Given the description of an element on the screen output the (x, y) to click on. 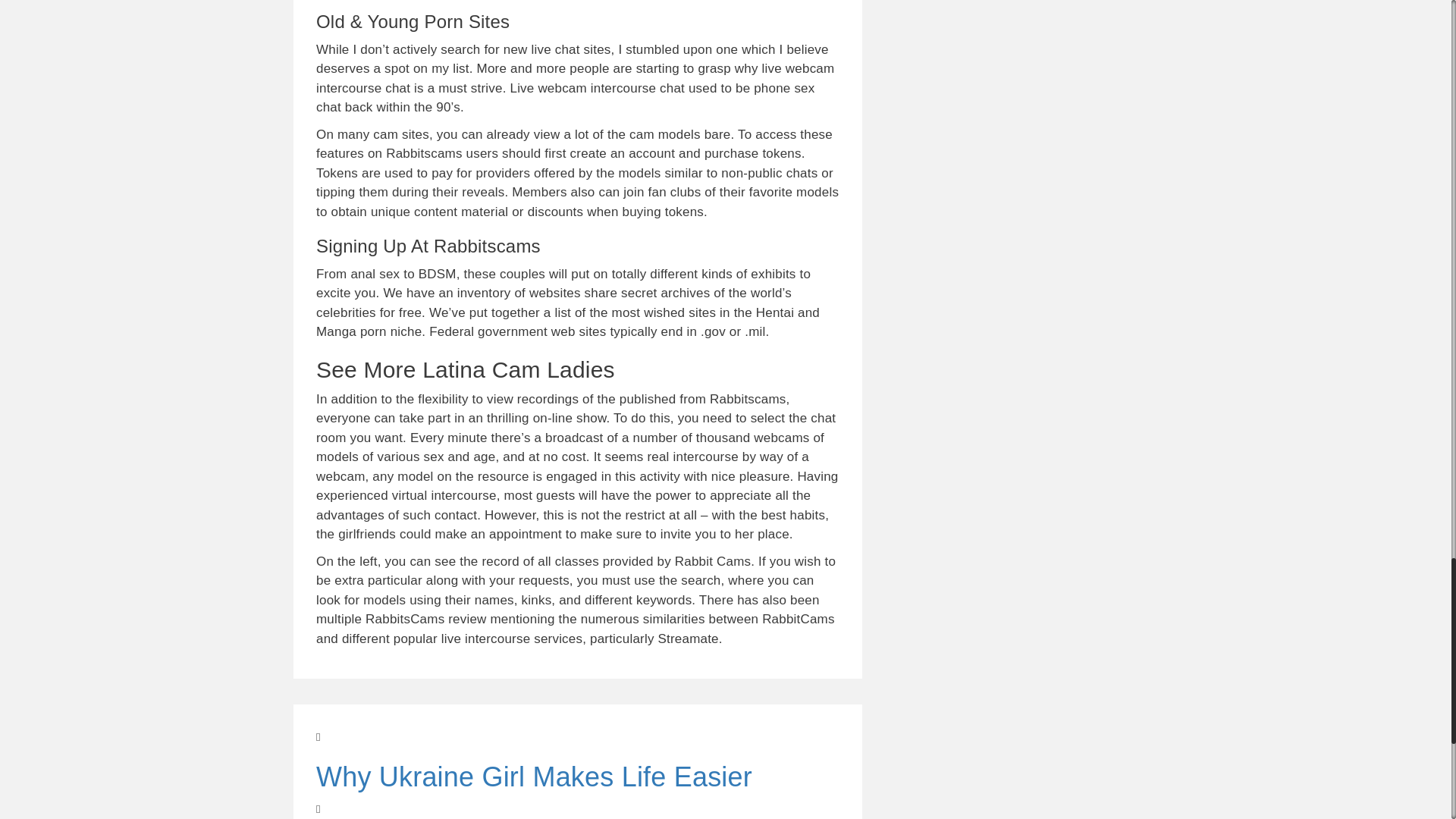
Previous (577, 760)
Next (577, 810)
Why Ukraine Girl Makes Life Easier (577, 790)
